Given the description of an element on the screen output the (x, y) to click on. 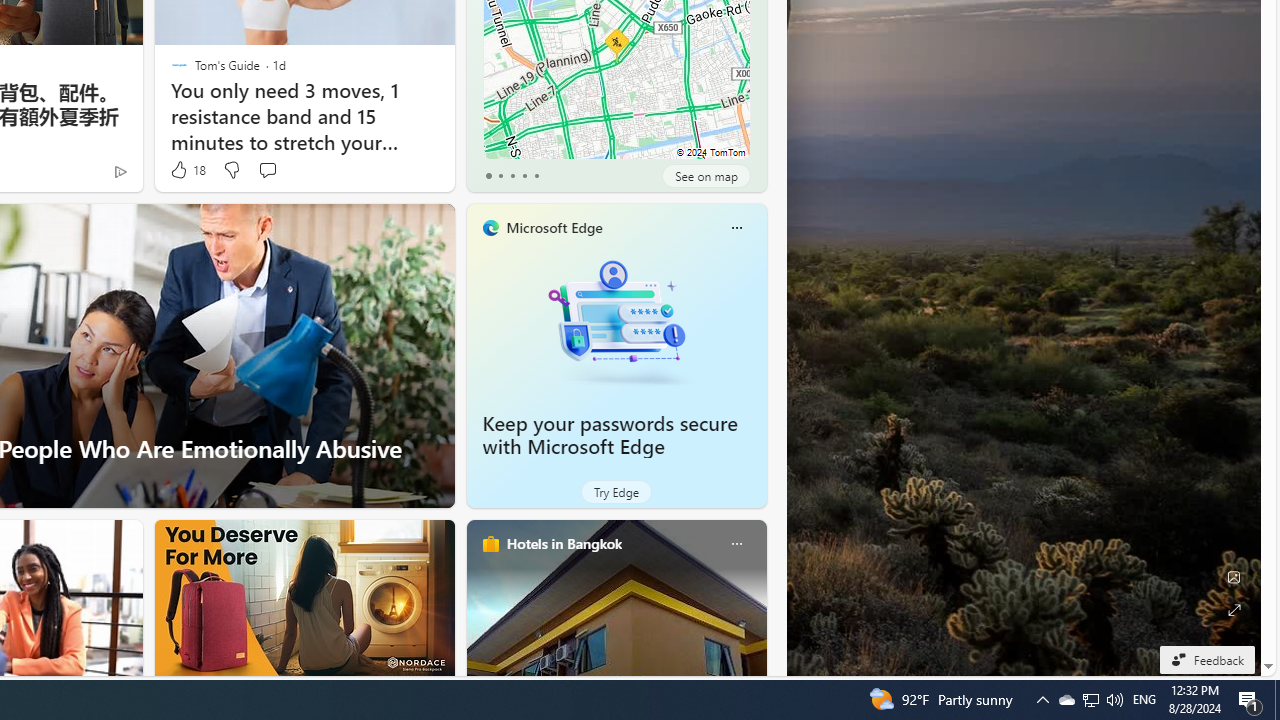
Start the conversation (267, 169)
More options (736, 543)
Class: icon-img (736, 543)
Try Edge (616, 491)
Hotels in Bangkok (563, 543)
Start the conversation (267, 170)
Expand background (1233, 610)
Edit Background (1233, 577)
Keep your passwords secure with Microsoft Edge (616, 321)
tab-2 (511, 175)
18 Like (186, 170)
tab-1 (500, 175)
See on map (705, 175)
